Given the description of an element on the screen output the (x, y) to click on. 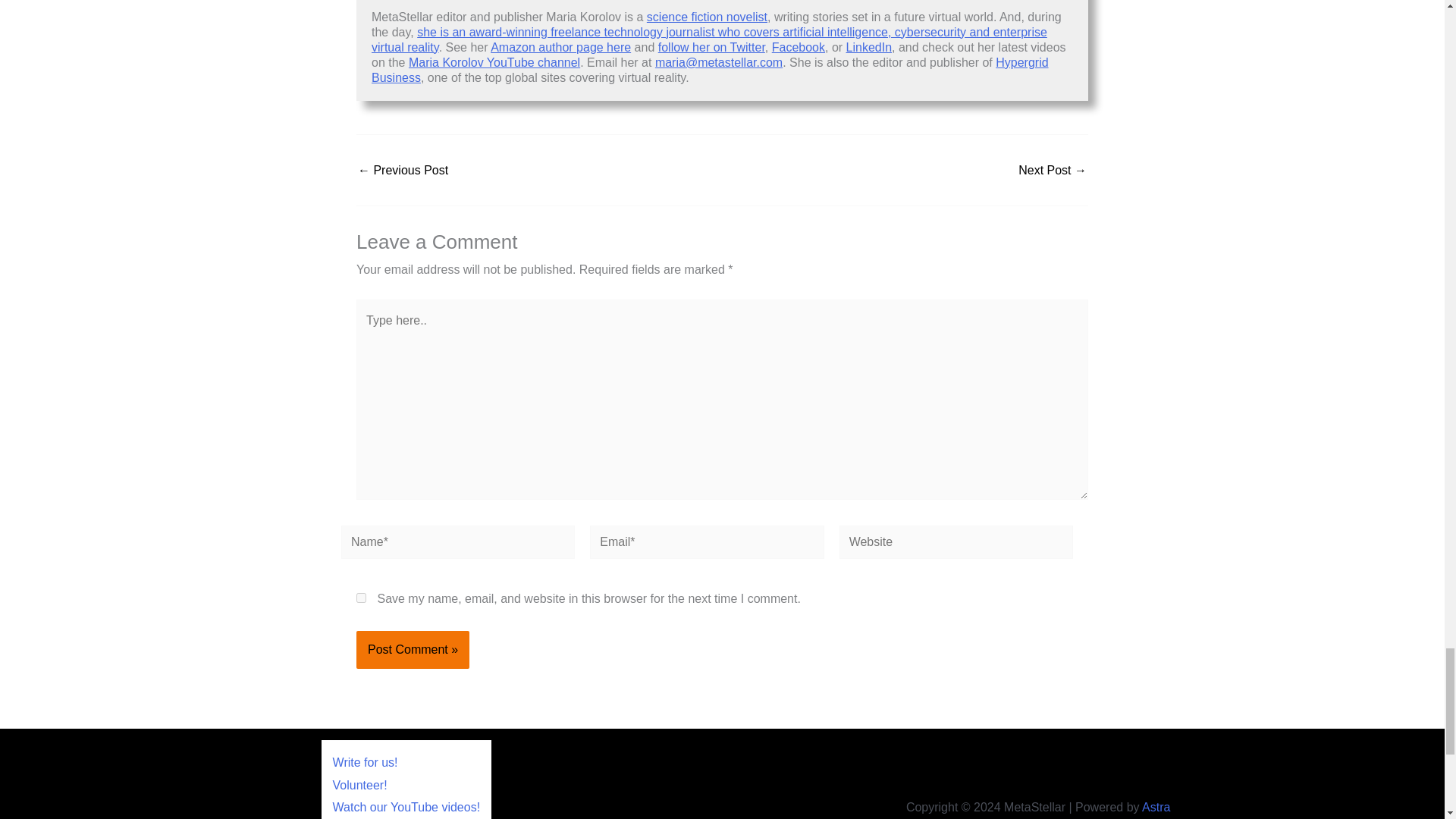
yes (361, 597)
How to create a short film on a budget (1051, 170)
